Given the description of an element on the screen output the (x, y) to click on. 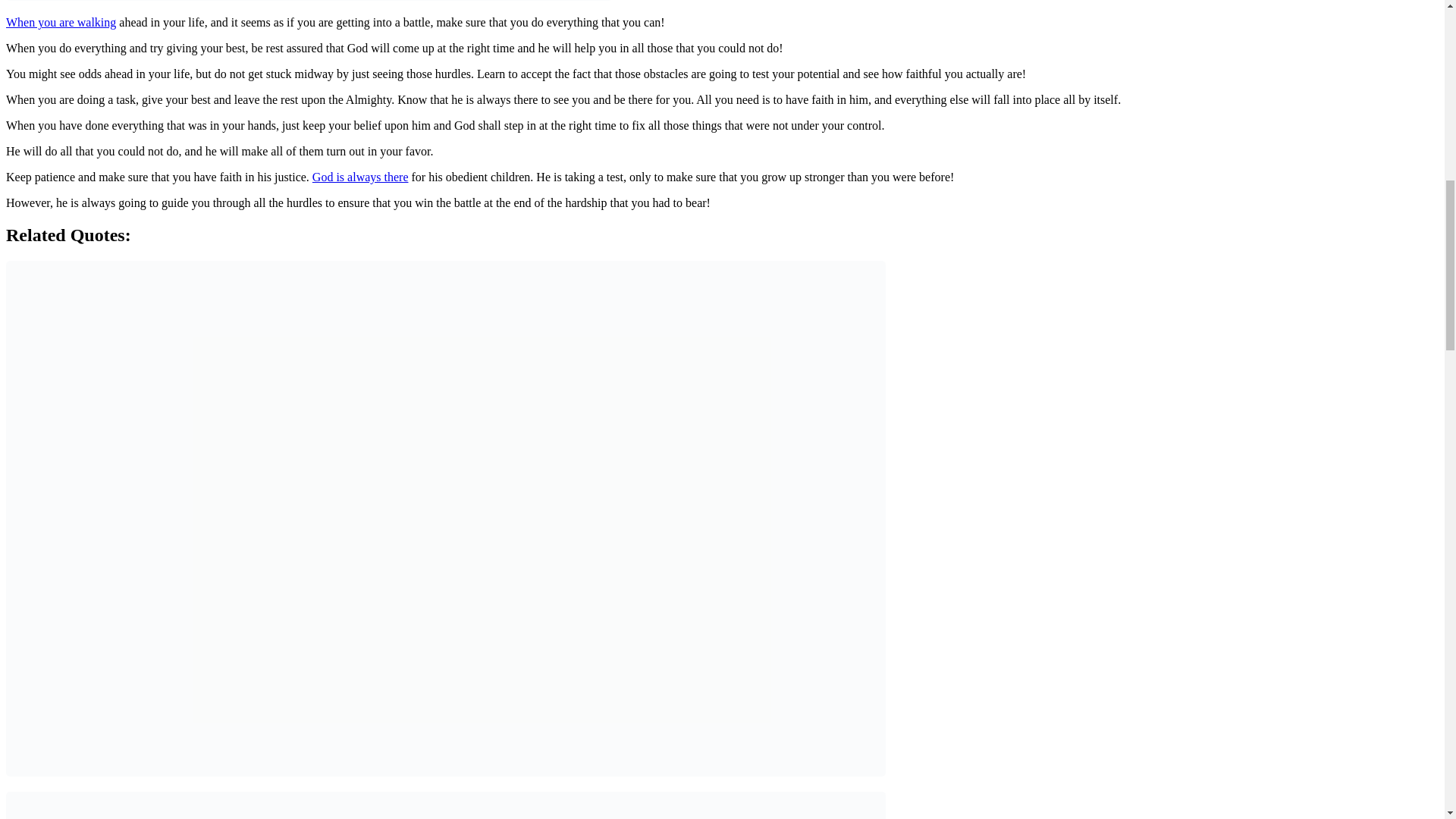
We walk by faith, not by sight. - 2 Corinthians 5:7 (445, 805)
Wisdom Of God Quotes (361, 176)
God is always there (361, 176)
When you are walking (60, 21)
Walking Quotes (60, 21)
